Given the description of an element on the screen output the (x, y) to click on. 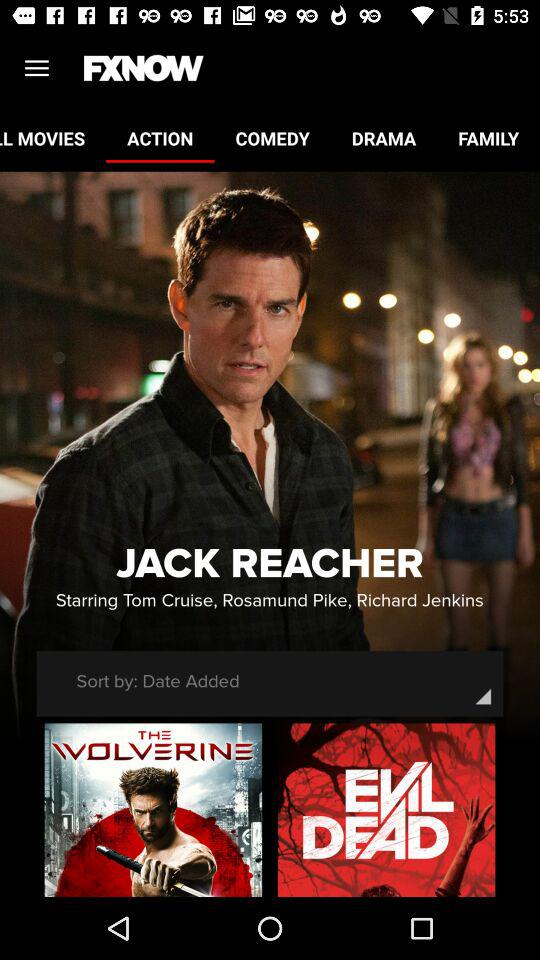
tap item below the action (269, 563)
